Given the description of an element on the screen output the (x, y) to click on. 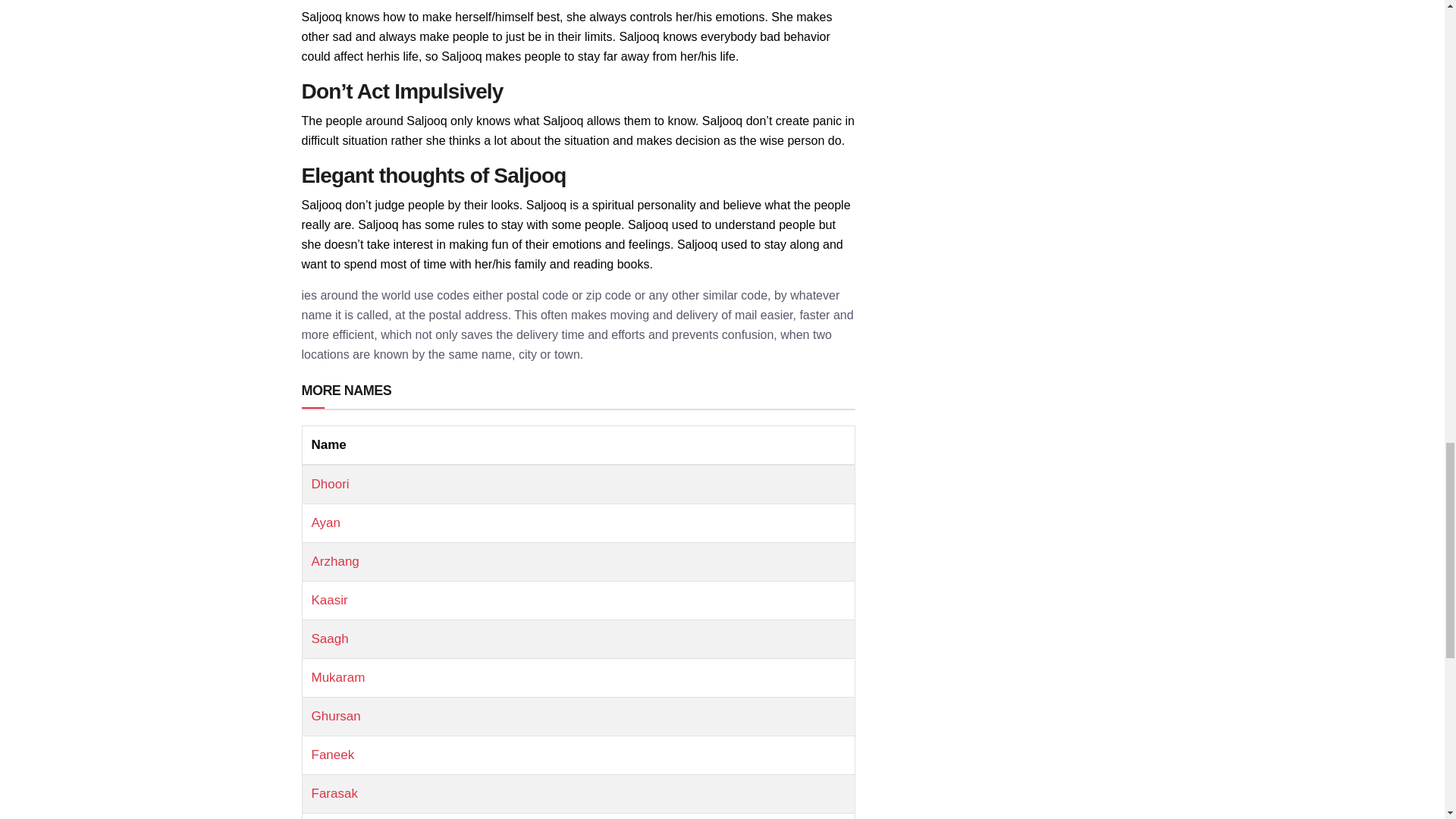
Ayan (325, 522)
Saagh (329, 638)
Ghursan (335, 716)
Farasak (333, 793)
Kaasir (329, 599)
Mukaram (338, 677)
Dhoori (330, 483)
Arzhang (334, 561)
Faneek (332, 754)
